Given the description of an element on the screen output the (x, y) to click on. 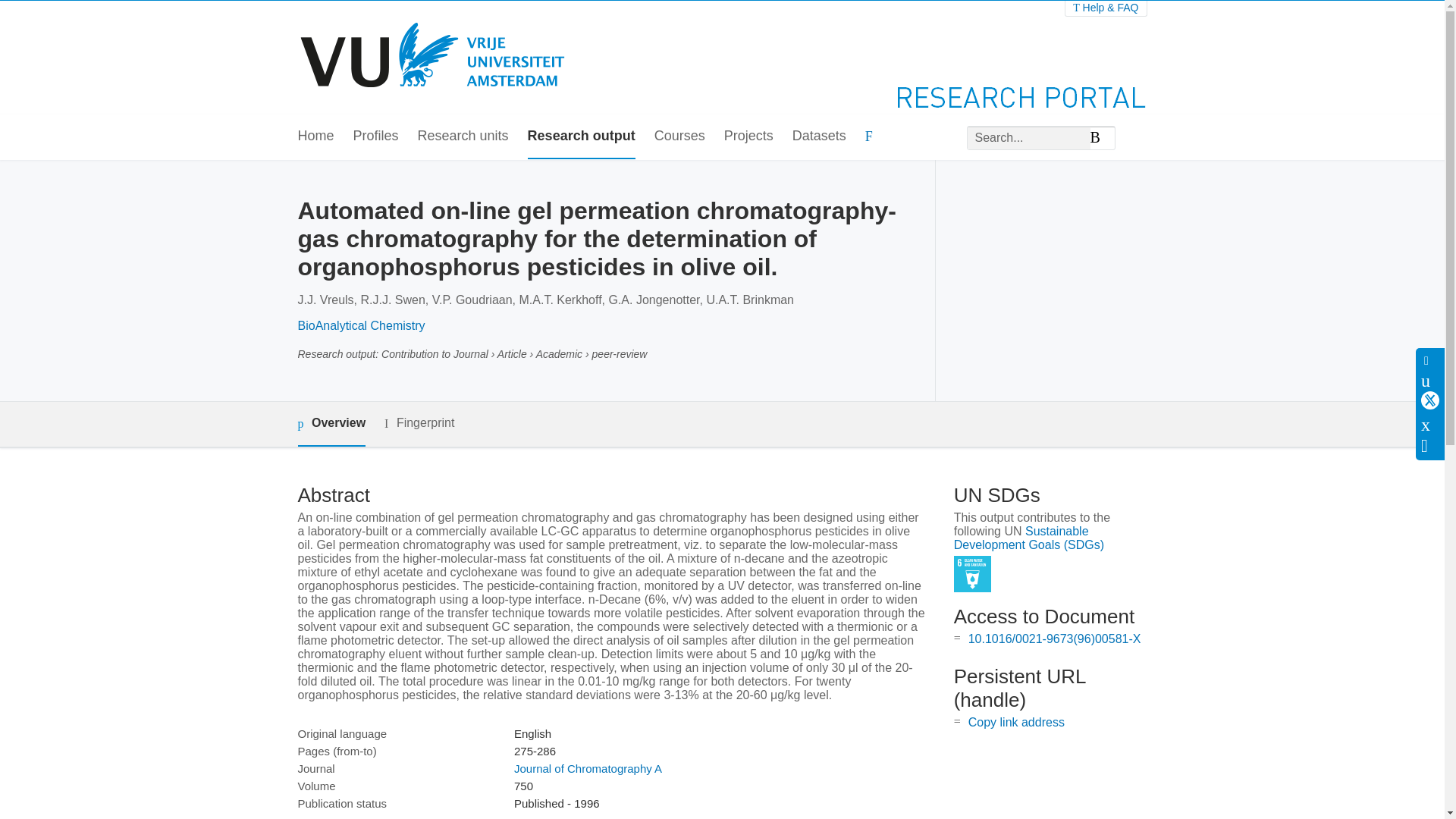
Research units (462, 136)
Projects (748, 136)
Journal of Chromatography A (587, 768)
Fingerprint (419, 423)
Profiles (375, 136)
Vrije Universiteit Amsterdam Home (433, 57)
Research output (580, 136)
Datasets (818, 136)
Courses (678, 136)
SDG 6 - Clean Water and Sanitation (972, 574)
BioAnalytical Chemistry (361, 325)
Copy link address (1016, 721)
Overview (331, 424)
